Given the description of an element on the screen output the (x, y) to click on. 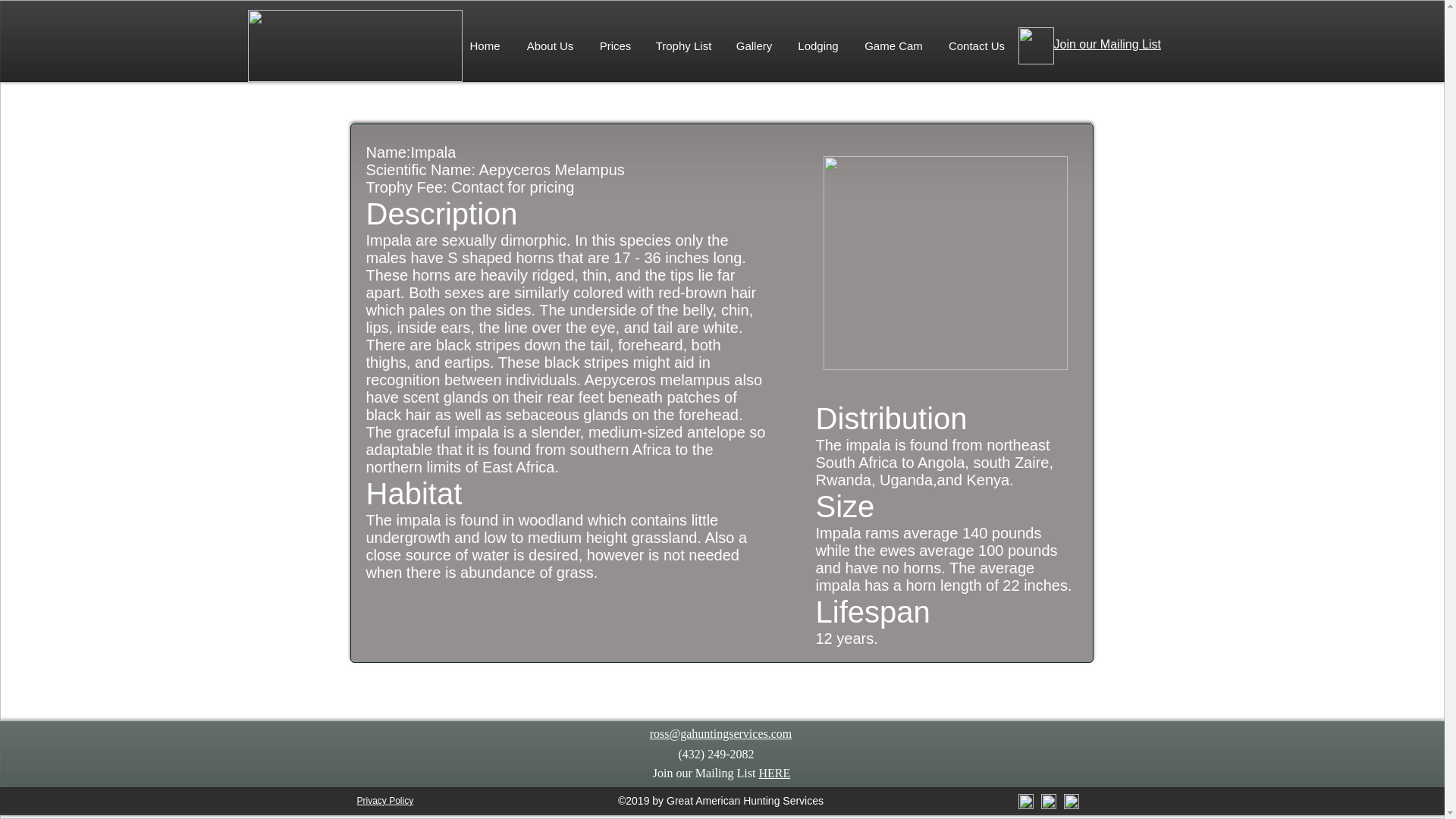
HERE (774, 772)
About Us (549, 46)
Join our Mailing List (1107, 43)
Prices (614, 46)
Home (484, 46)
impalablack.jpg (945, 263)
Privacy Policy (384, 800)
Gallery (753, 46)
Contact Us (976, 46)
